Given the description of an element on the screen output the (x, y) to click on. 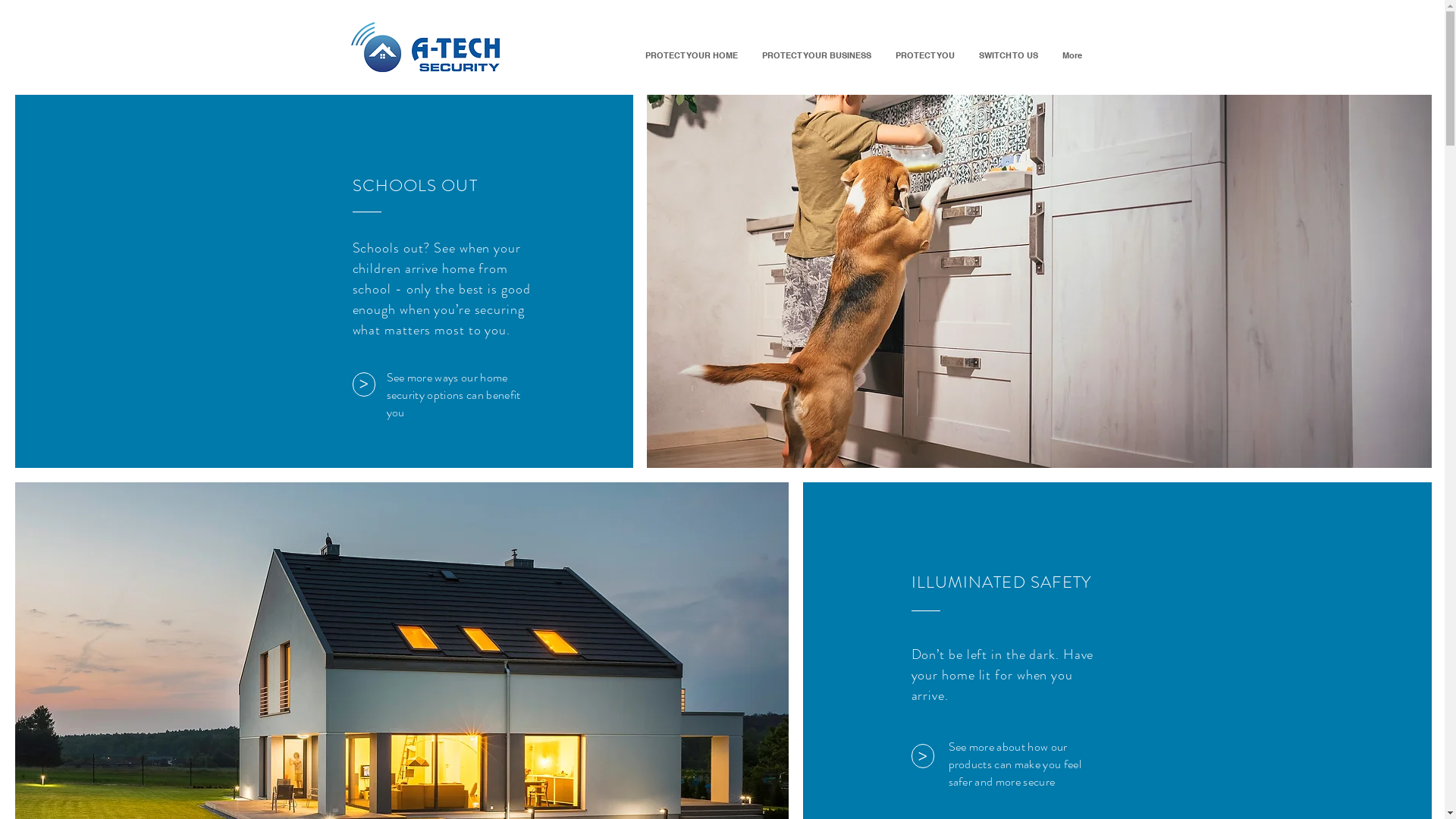
> Element type: text (362, 384)
SWITCH TO US Element type: text (1007, 55)
PROTECT YOU Element type: text (924, 55)
> Element type: text (922, 755)
PROTECT YOUR BUSINESS Element type: text (815, 55)
PROTECT YOUR HOME Element type: text (690, 55)
